Given the description of an element on the screen output the (x, y) to click on. 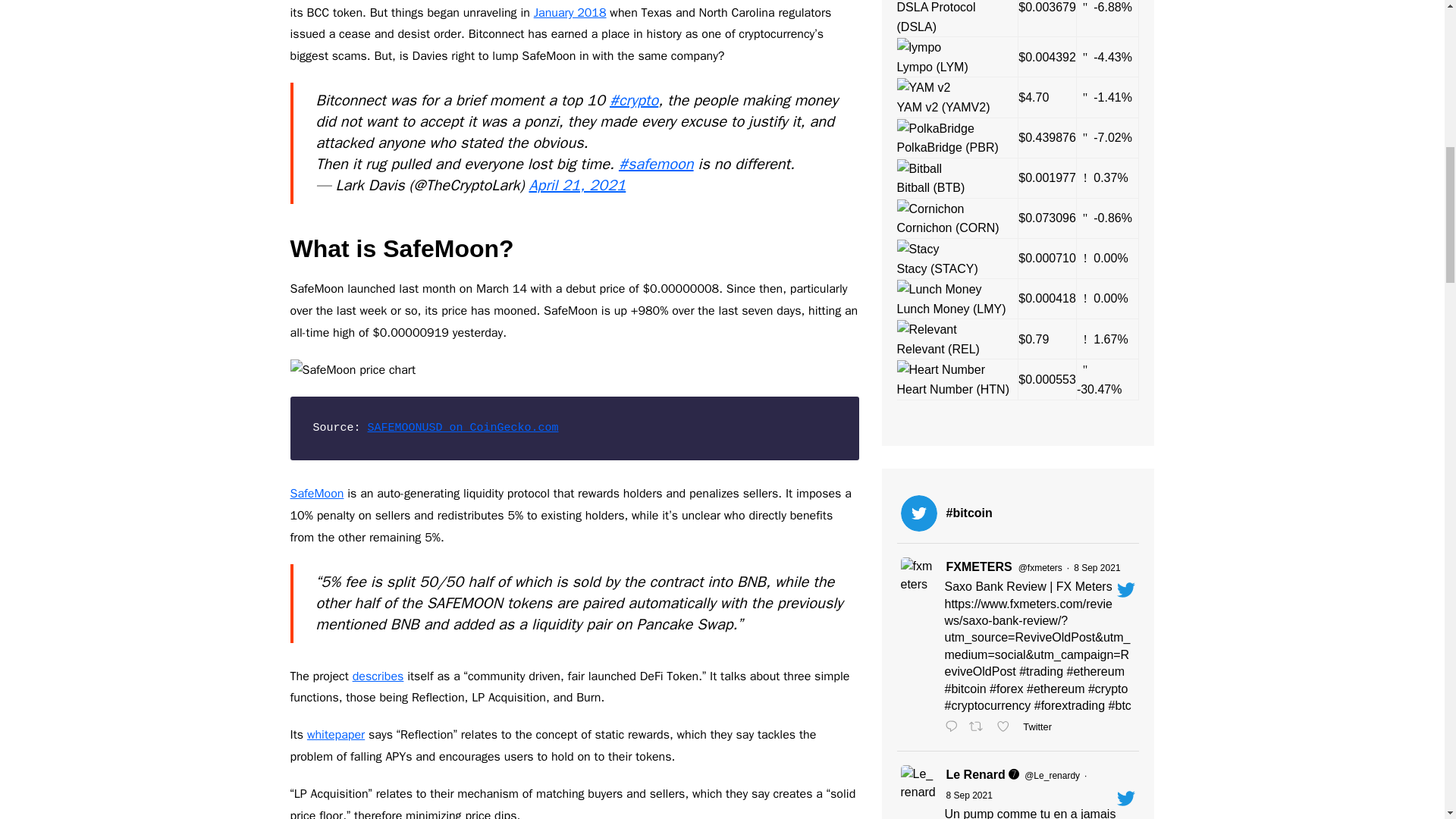
April 21, 2021 (577, 185)
SAFEMOONUSD on CoinGecko.com (463, 427)
SafeMoon (316, 493)
describes (378, 676)
whitepaper (336, 734)
January 2018 (570, 12)
